Given the description of an element on the screen output the (x, y) to click on. 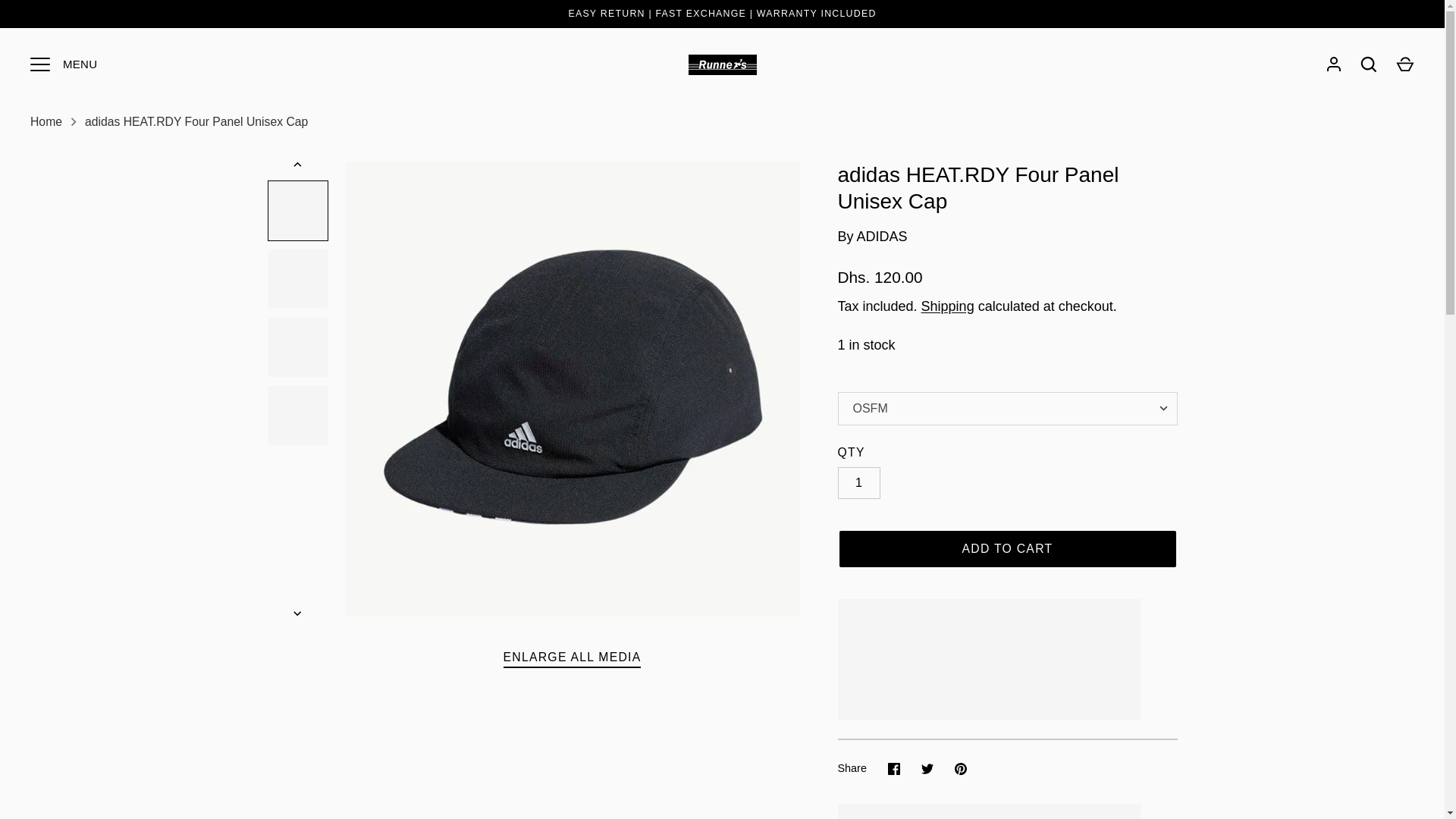
1 (858, 482)
